Given the description of an element on the screen output the (x, y) to click on. 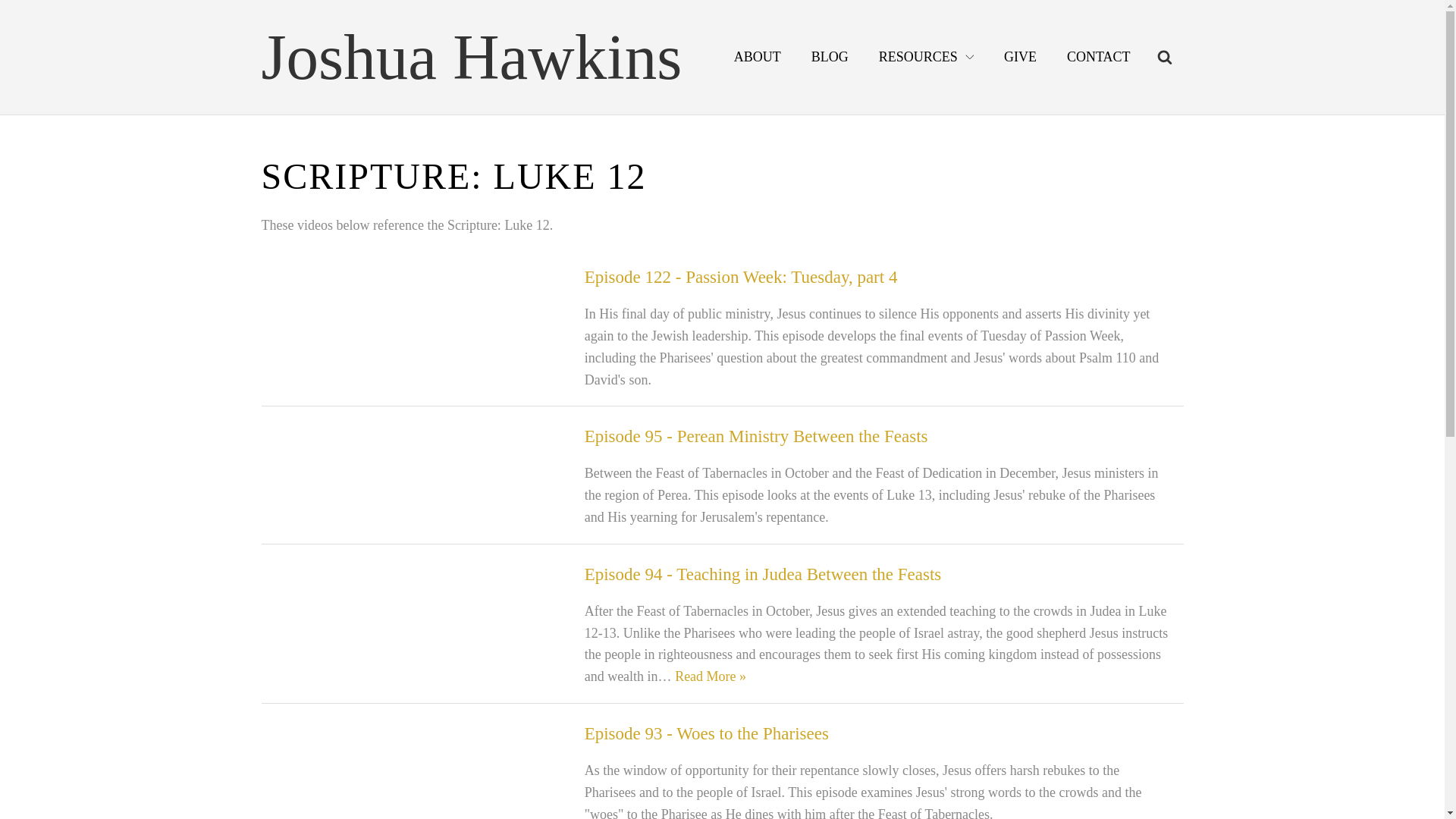
Joshua Hawkins (470, 57)
BLOG (829, 57)
Episode 94 - Teaching in Judea Between the Feasts (763, 574)
Episode 93 - Woes to the Pharisees (706, 732)
ABOUT (757, 57)
RESOURCES (925, 57)
GIVE (1019, 57)
CONTACT (1098, 57)
Episode 95 - Perean Ministry Between the Feasts (756, 435)
Episode 122 - Passion Week: Tuesday, part 4 (741, 276)
